Given the description of an element on the screen output the (x, y) to click on. 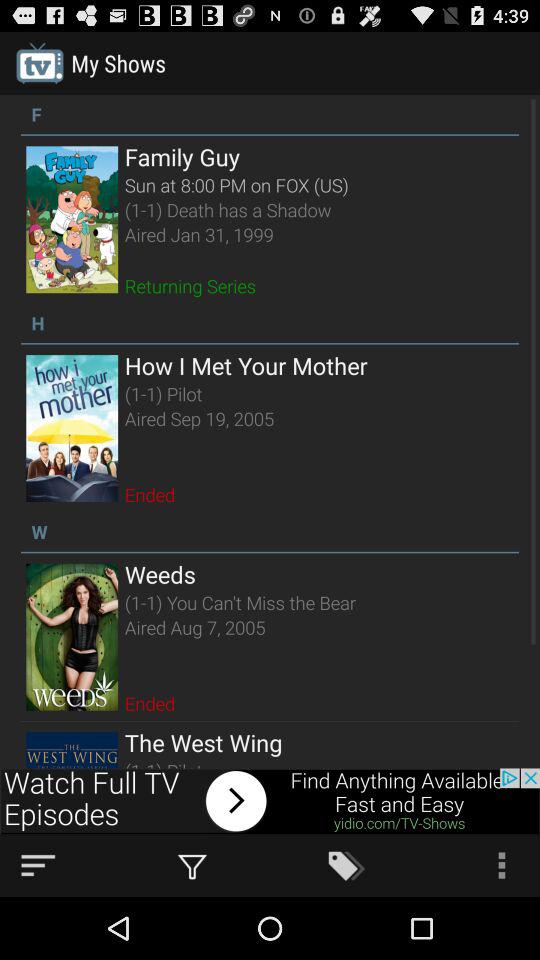
go to next option (270, 801)
